Given the description of an element on the screen output the (x, y) to click on. 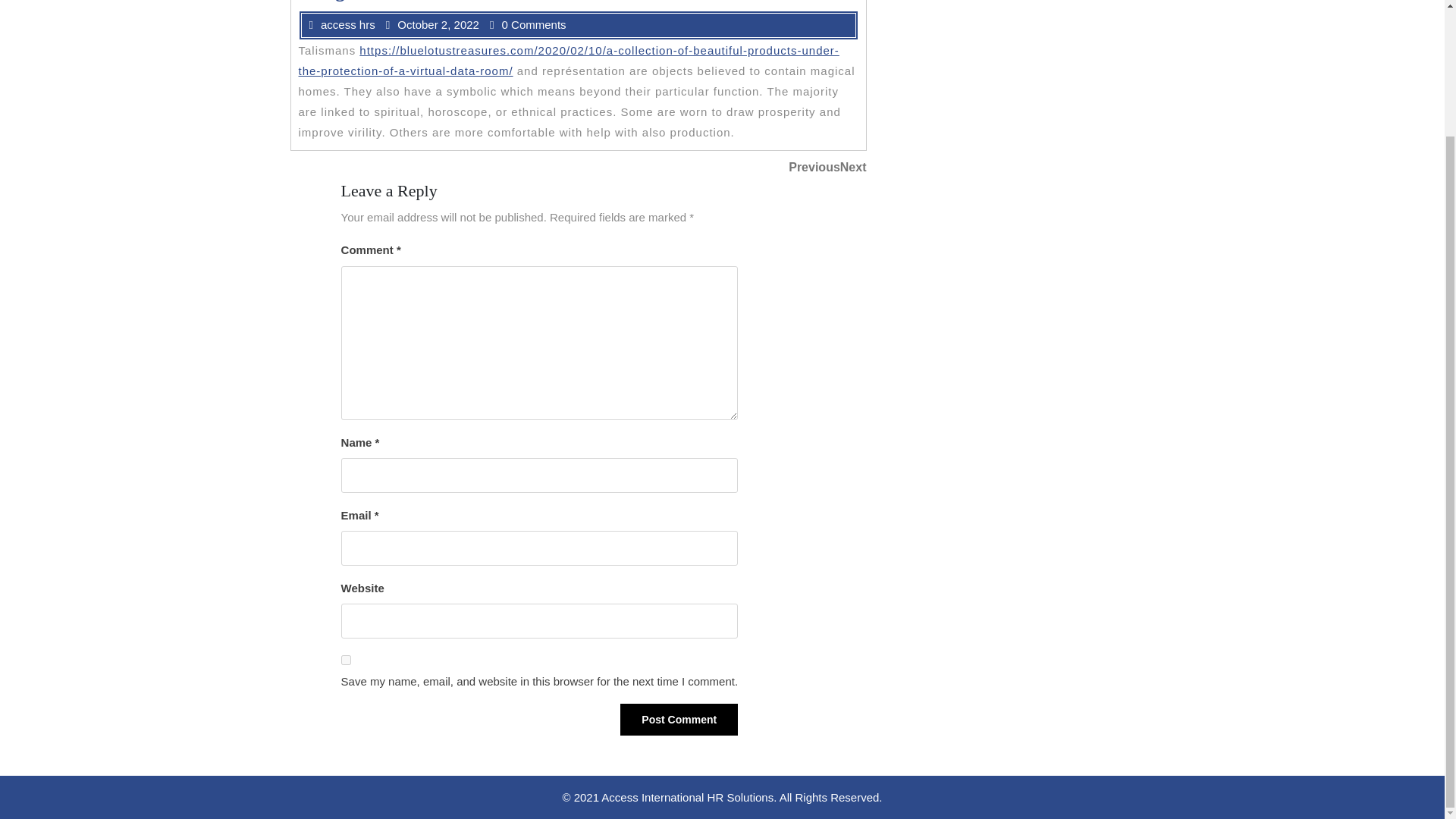
Post Comment (679, 719)
yes (846, 167)
Post Comment (345, 660)
